Given the description of an element on the screen output the (x, y) to click on. 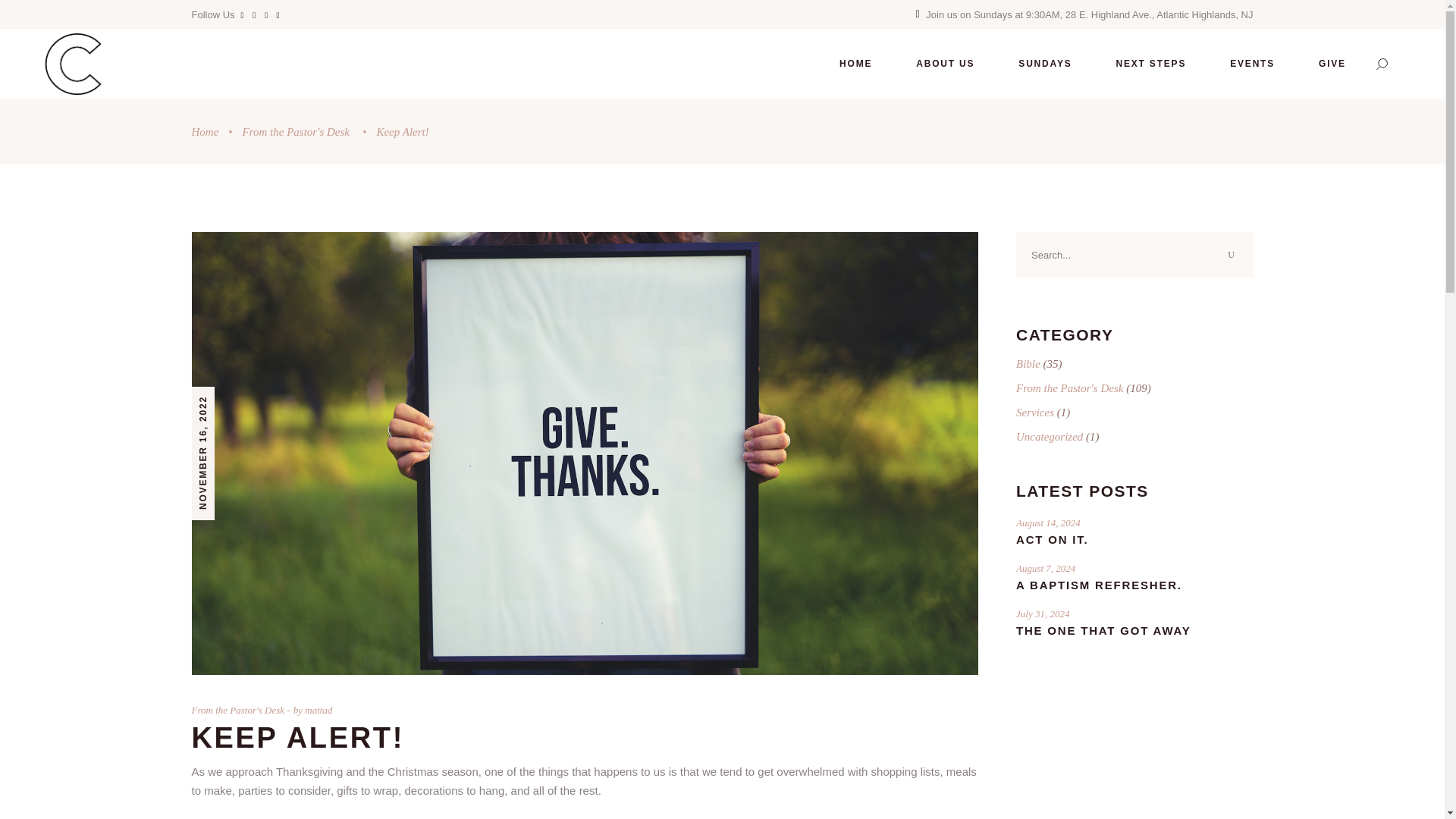
HOME (854, 63)
A Baptism Refresher. (1099, 584)
ABOUT US (944, 63)
NEXT STEPS (1151, 63)
GIVE (1332, 63)
The One That Got Away (1103, 630)
Act On It. (1052, 539)
EVENTS (1252, 63)
SUNDAYS (1044, 63)
